Given the description of an element on the screen output the (x, y) to click on. 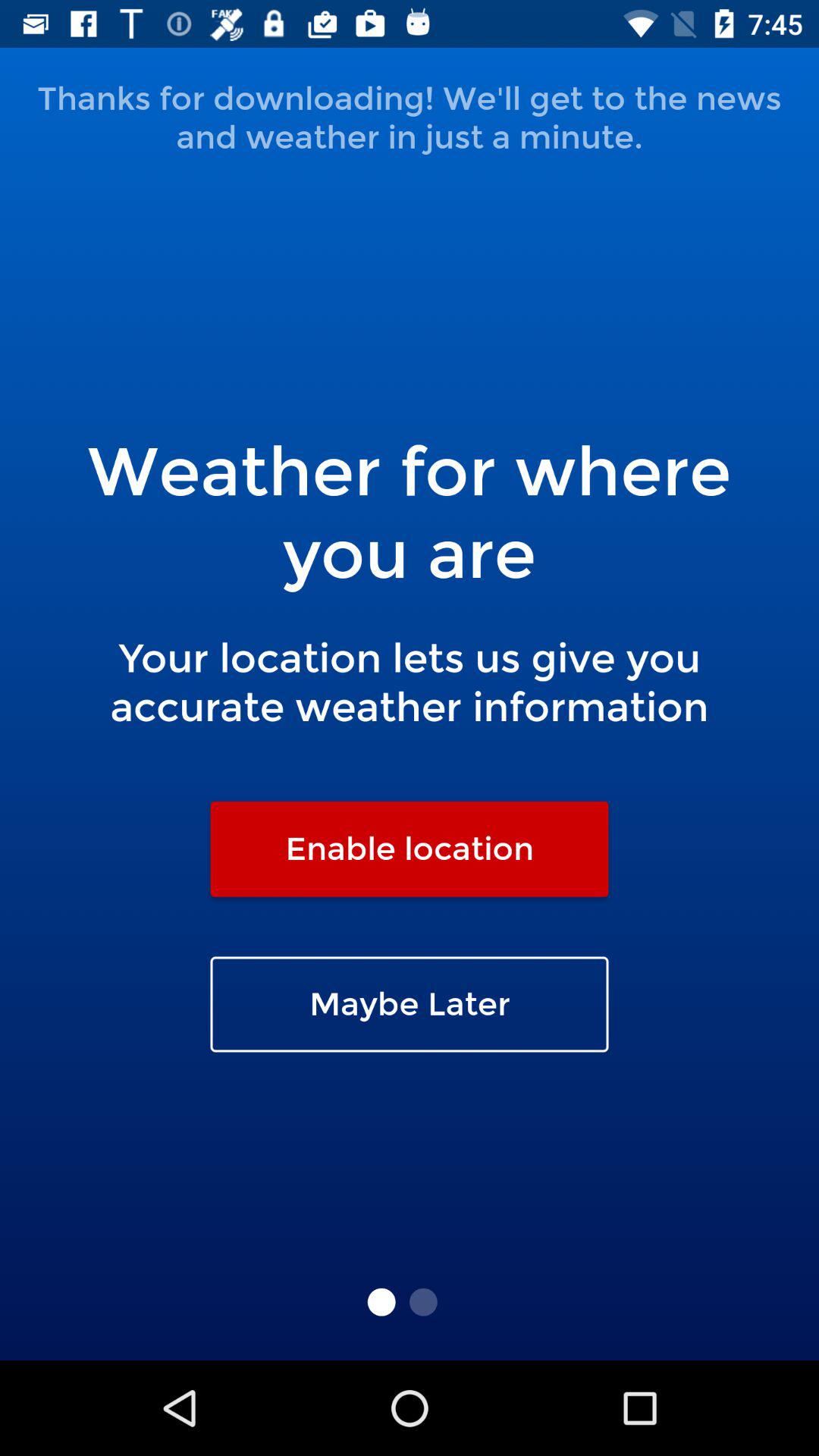
turn off icon below your location lets (409, 848)
